Given the description of an element on the screen output the (x, y) to click on. 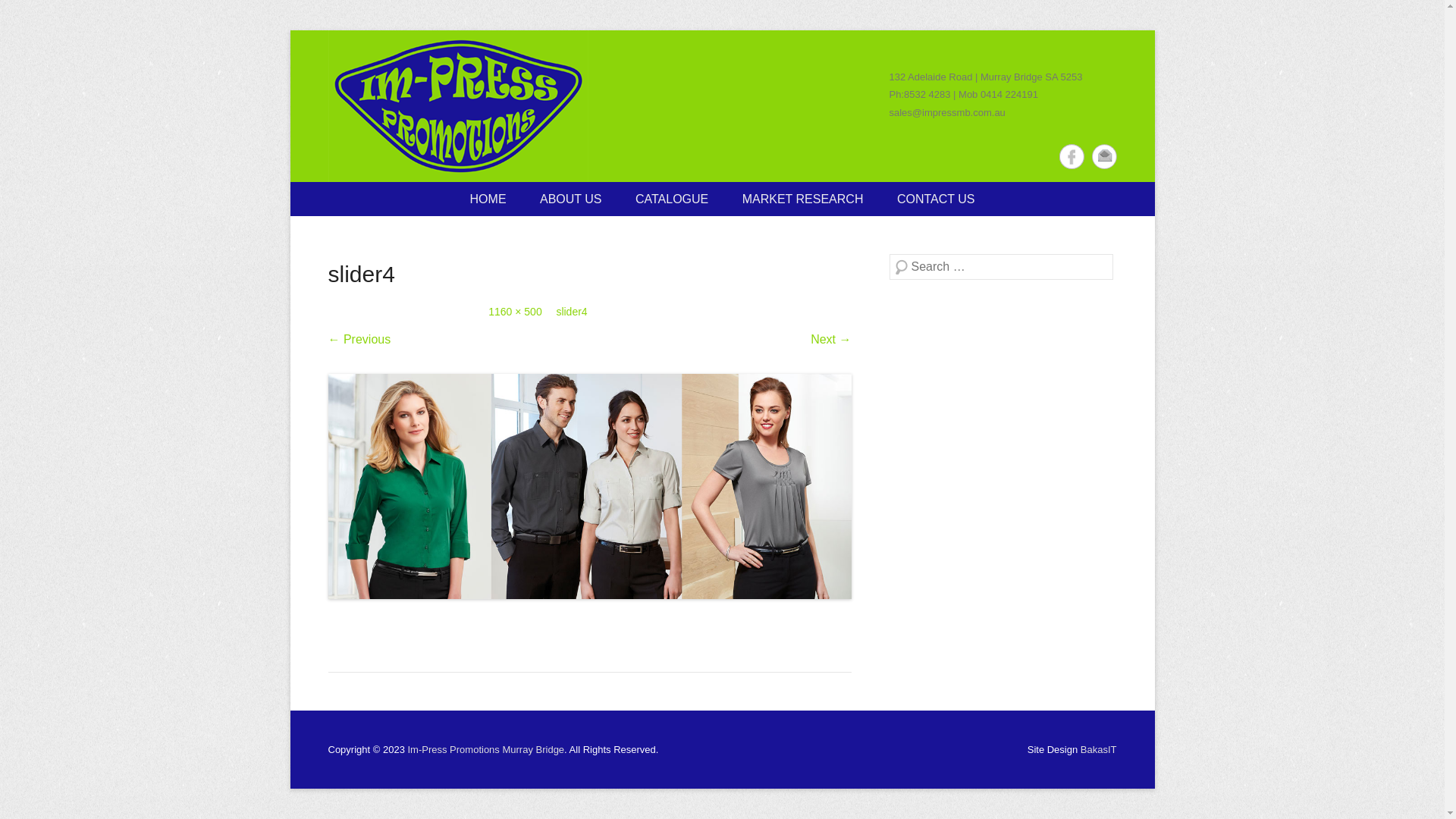
BakasIT Element type: text (1098, 749)
slider4 Element type: text (570, 311)
Email Element type: text (1104, 156)
HOME Element type: text (488, 199)
Im-Press Promotions Murray Bridge Element type: text (485, 749)
Search Element type: text (32, 15)
Im-Press Promotions Murray Bridge Element type: text (651, 208)
Skip to content Element type: text (329, 191)
sales@impressmb.com.au Element type: text (946, 112)
Facebook Element type: text (1070, 156)
ABOUT US Element type: text (570, 199)
CATALOGUE Element type: text (671, 199)
slider4 Element type: hover (588, 486)
MARKET RESEARCH Element type: text (802, 199)
Im-Press Promotions Murray Bridge Element type: hover (457, 106)
CONTACT US Element type: text (935, 199)
Skip to Footer Content Element type: text (350, 720)
